Given the description of an element on the screen output the (x, y) to click on. 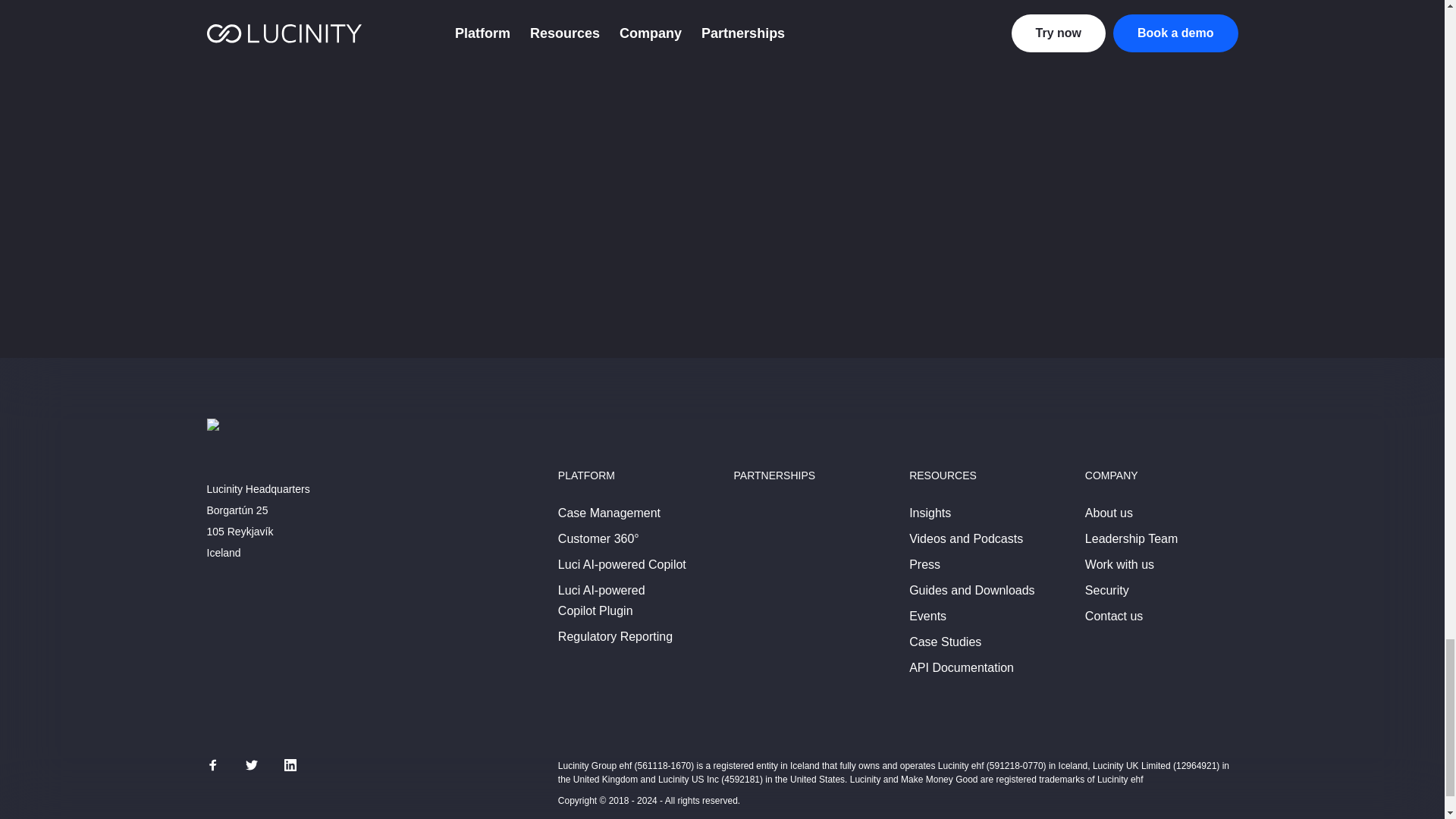
API Documentation (960, 667)
Luci AI-powered Copilot (621, 564)
Guides and Downloads (970, 590)
Luci AI-powered Copilot Plugin (601, 600)
Events (927, 616)
About us (1108, 513)
Case Management (609, 513)
Videos and Podcasts (965, 539)
Case Studies (944, 642)
Press (924, 564)
Regulatory Reporting (614, 636)
Leadership Team (1130, 539)
Work with us (1119, 564)
Insights (929, 513)
